Given the description of an element on the screen output the (x, y) to click on. 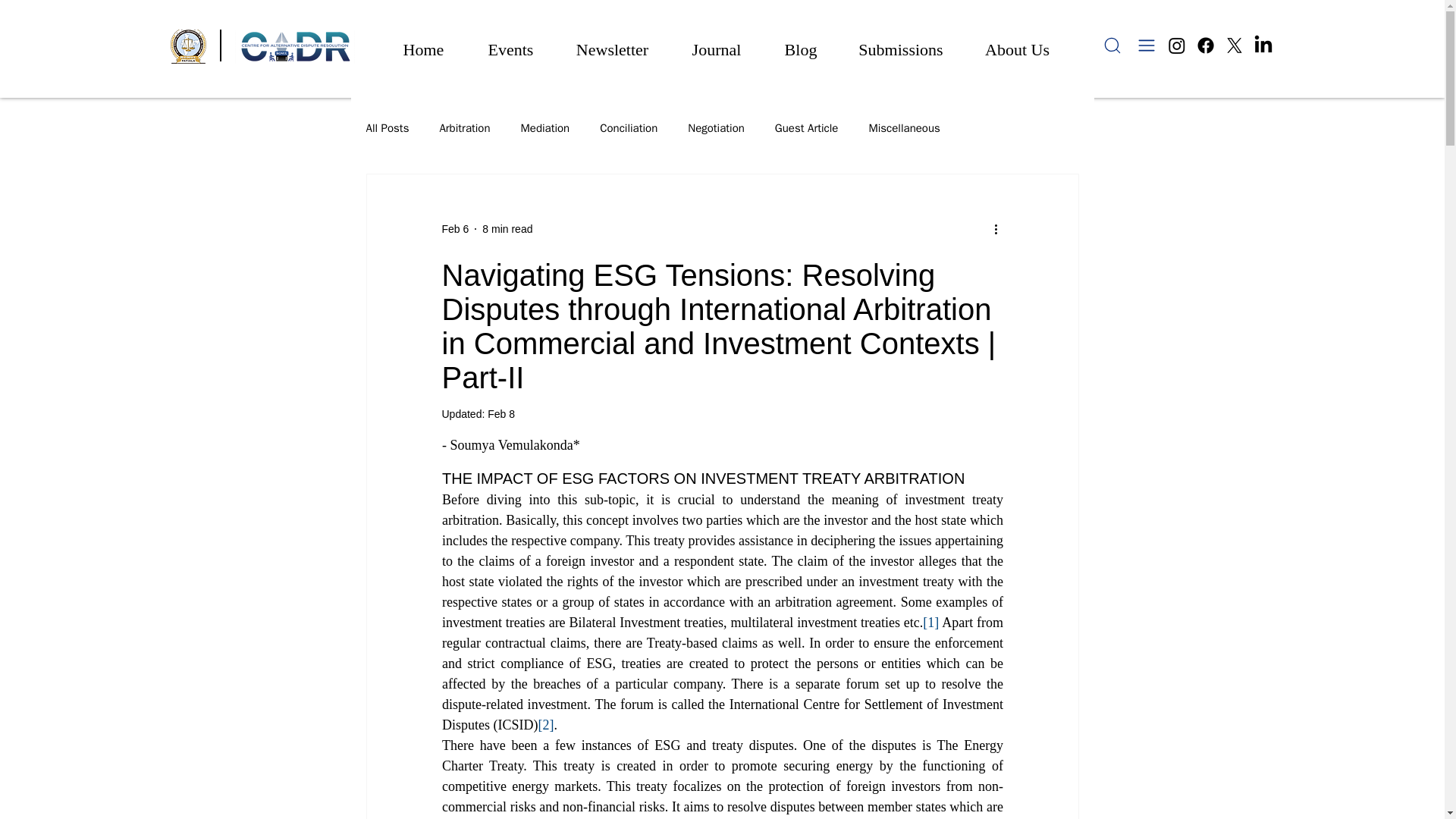
Journal (715, 42)
Feb 6 (454, 228)
Arbitration (464, 128)
Negotiation (715, 128)
8 min read (506, 228)
Home (423, 42)
Mediation (545, 128)
All Posts (387, 128)
Newsletter (611, 42)
Blog (800, 42)
